Given the description of an element on the screen output the (x, y) to click on. 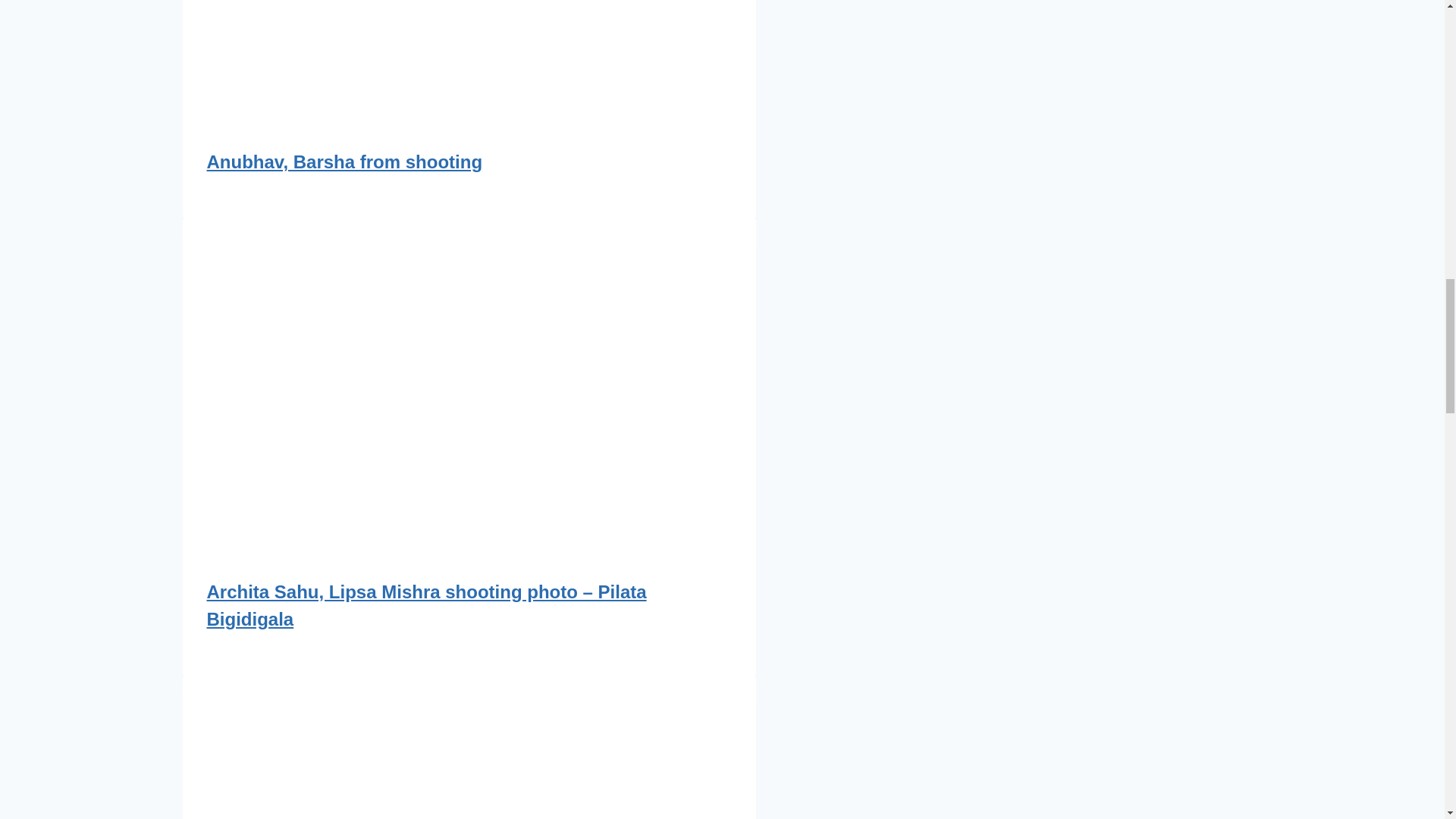
Anubhav, Barsha from shooting (343, 161)
